Given the description of an element on the screen output the (x, y) to click on. 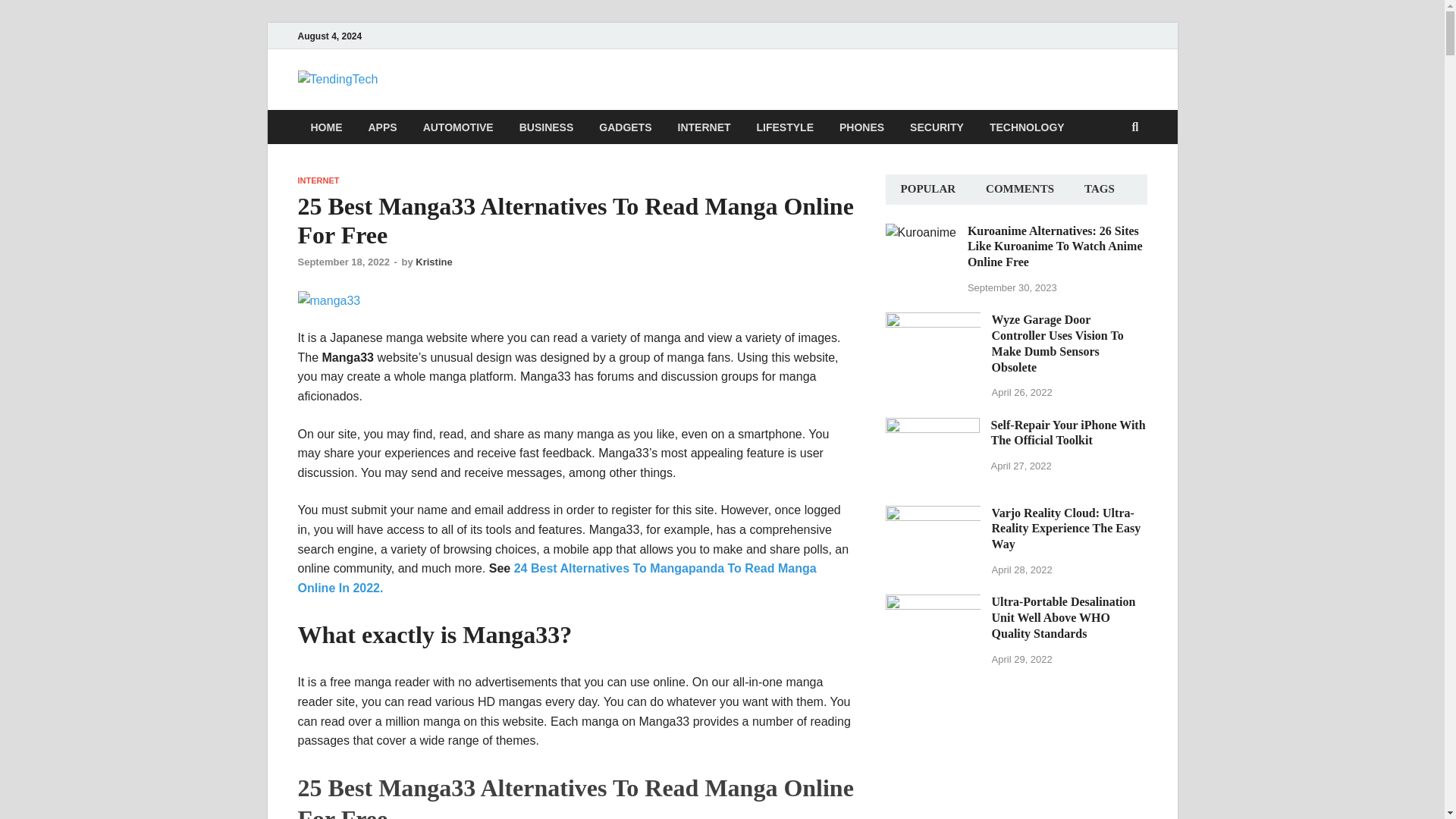
Kristine (432, 261)
INTERNET (704, 126)
TendingTech (471, 100)
Varjo Reality Cloud: Ultra-Reality Experience The Easy Way (932, 513)
GADGETS (624, 126)
HOME (326, 126)
LIFESTYLE (785, 126)
SECURITY (936, 126)
APPS (382, 126)
AUTOMOTIVE (458, 126)
INTERNET (318, 180)
